Given the description of an element on the screen output the (x, y) to click on. 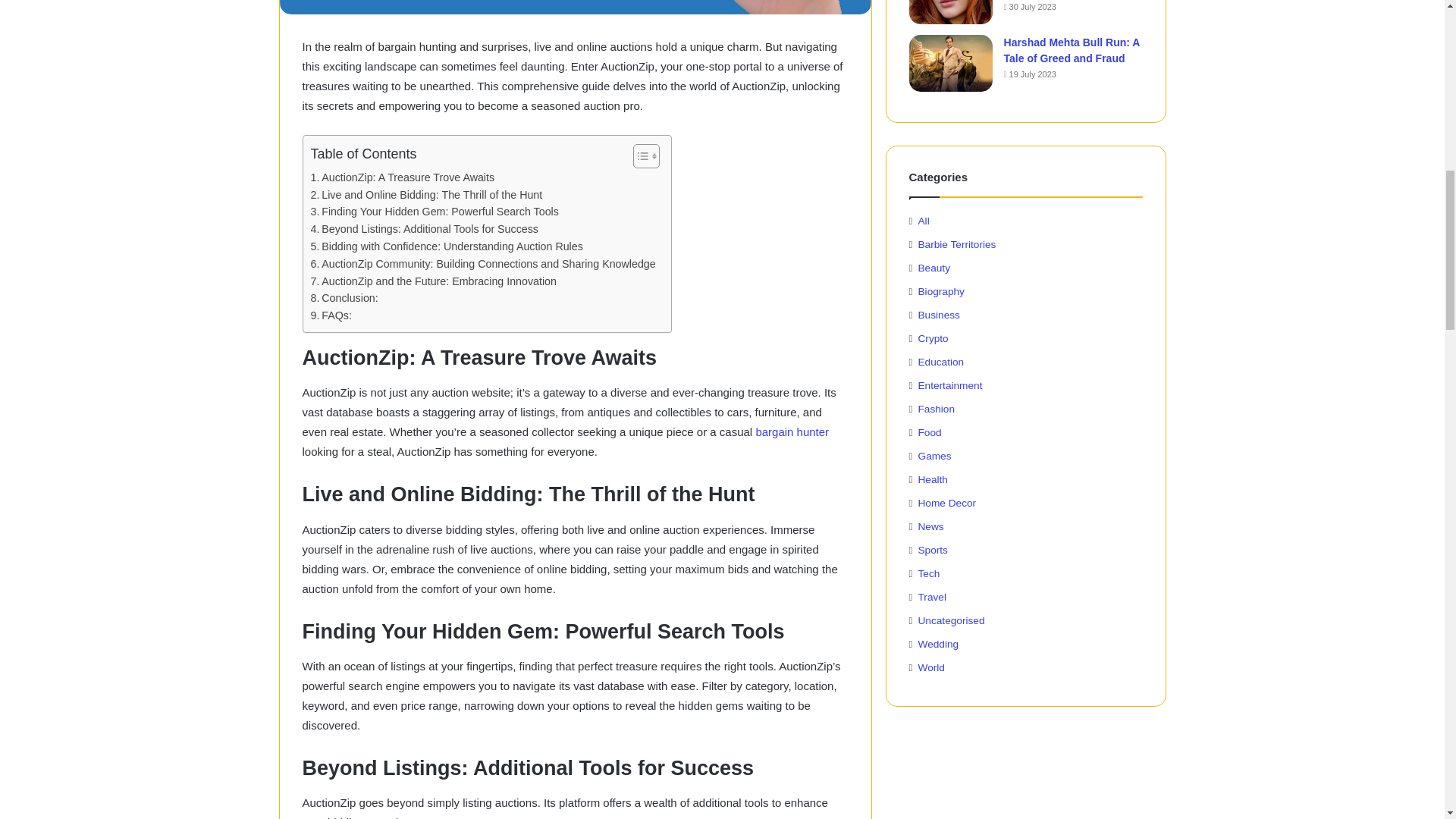
Finding Your Hidden Gem: Powerful Search Tools (435, 211)
Live and Online Bidding: The Thrill of the Hunt (427, 194)
AuctionZip: A Treasure Trove Awaits (403, 177)
AuctionZip: A Treasure Trove Awaits (403, 177)
